Given the description of an element on the screen output the (x, y) to click on. 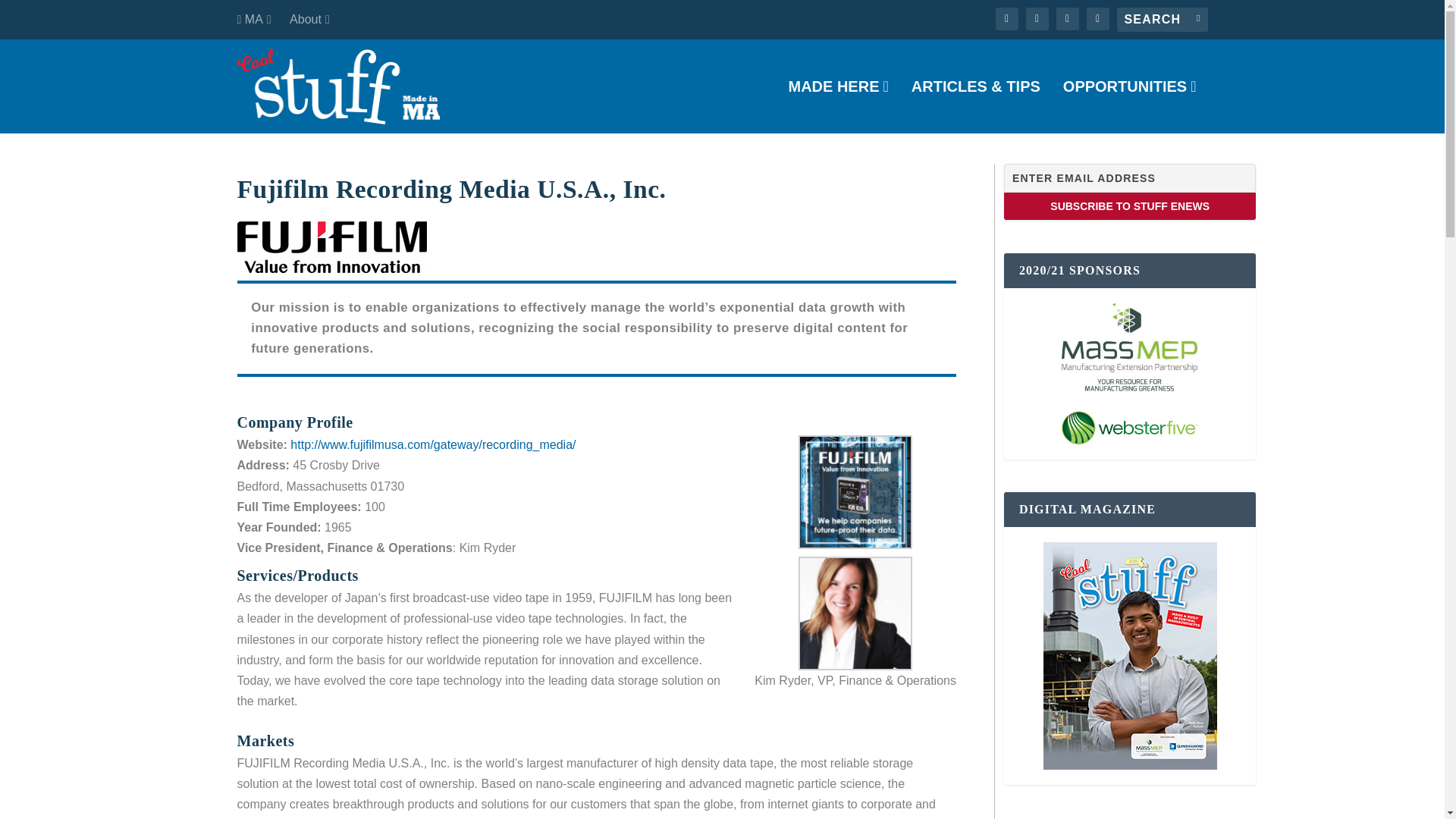
About (309, 19)
Subscribe to Stuff eNews (1130, 206)
Search for: (1161, 19)
OPPORTUNITIES (1129, 105)
MADE HERE (837, 105)
